Given the description of an element on the screen output the (x, y) to click on. 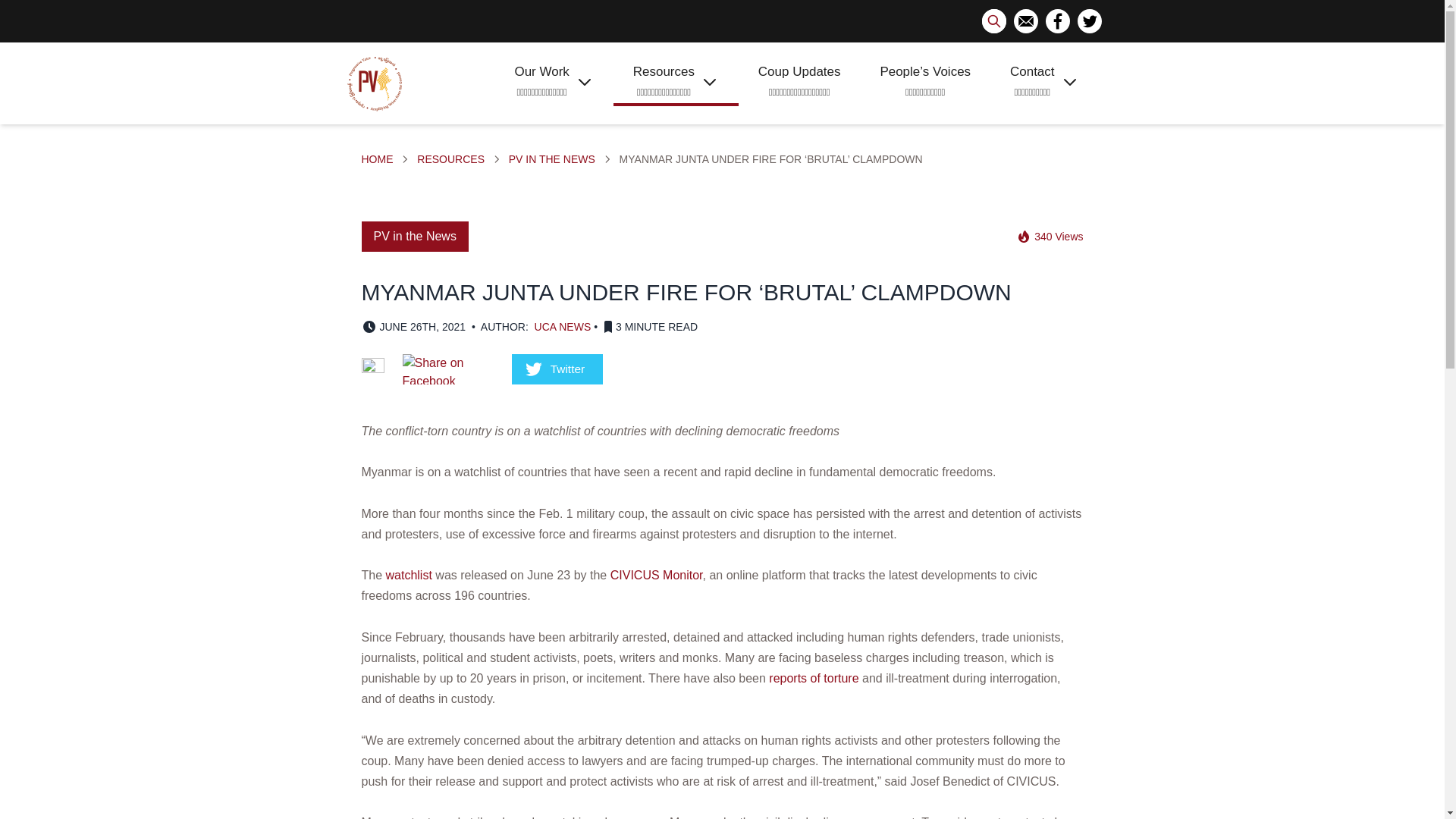
RESOURCES (450, 159)
UCA NEWS (562, 326)
PV in the News (551, 159)
Share on Facebook (447, 368)
CIVICUS Monitor (656, 574)
reports of torture (813, 677)
PV IN THE NEWS (551, 159)
Email Progressive Voice (1024, 21)
PV in the News (414, 236)
Share on Twitter (556, 368)
